Given the description of an element on the screen output the (x, y) to click on. 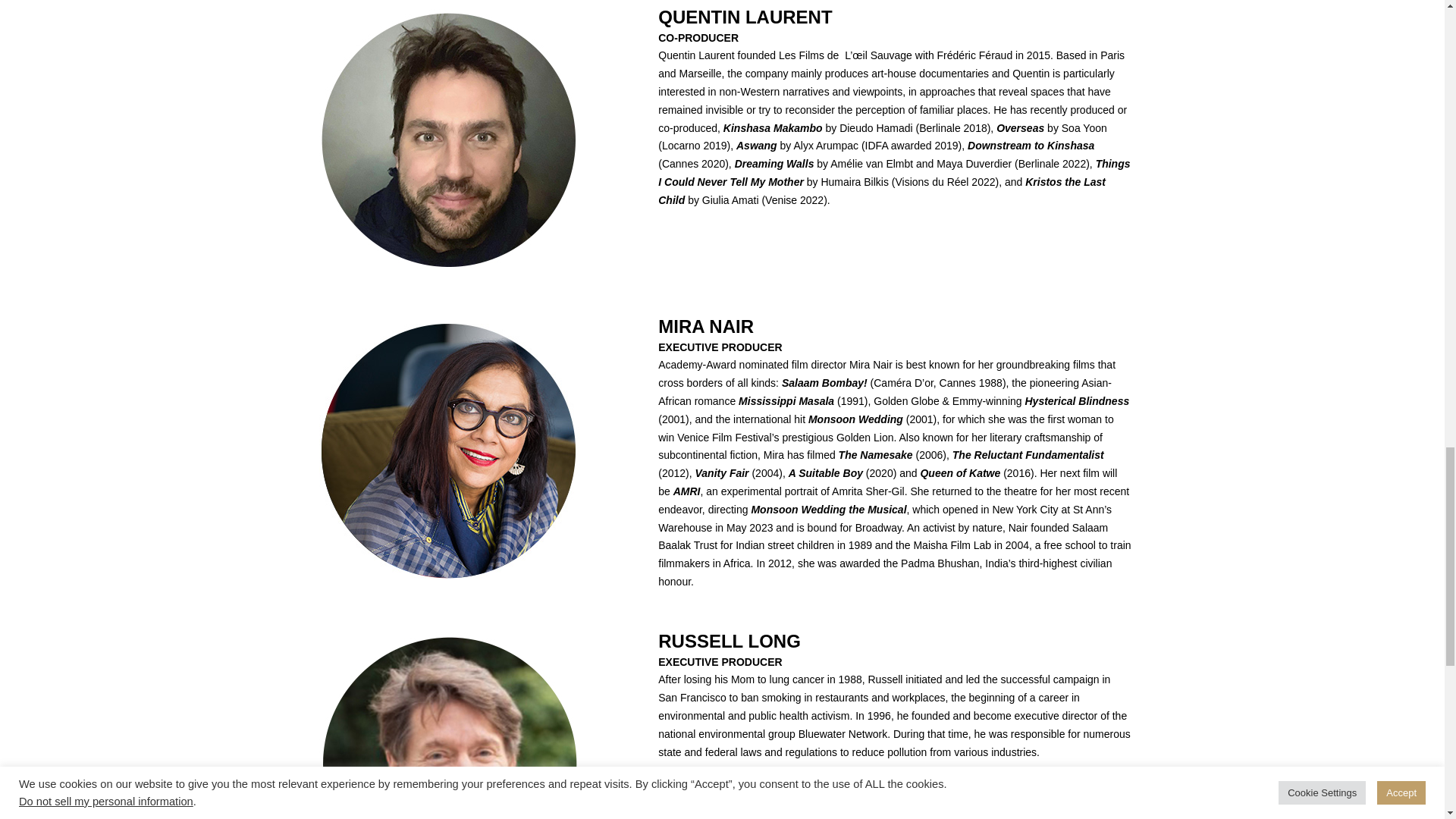
Russell (446, 725)
Mira-Nair (446, 450)
Quentin (446, 142)
